Given the description of an element on the screen output the (x, y) to click on. 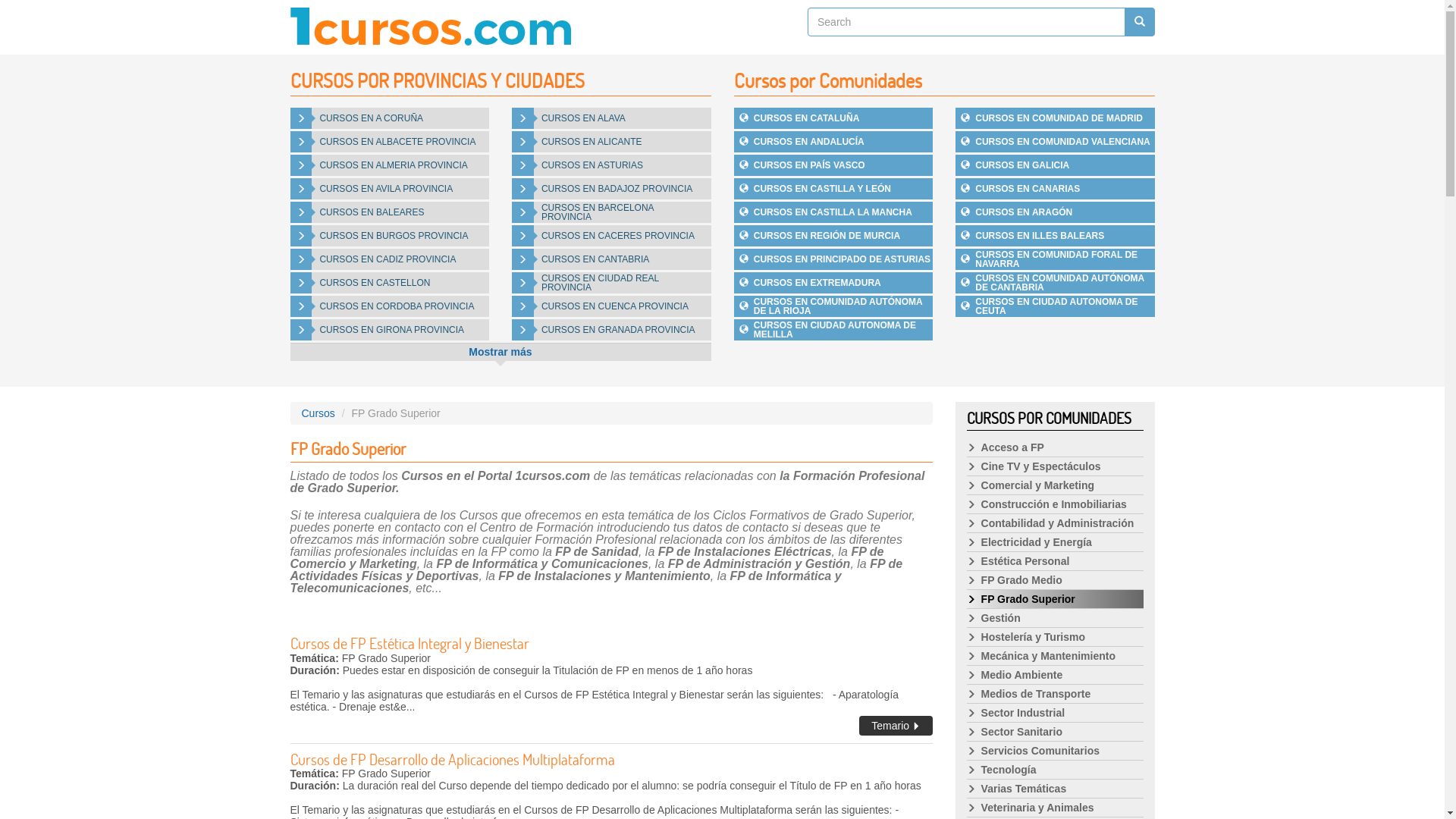
Sector Sanitario Element type: text (1054, 731)
CURSOS EN ALAVA Element type: text (611, 117)
CURSOS EN COMUNIDAD DE MADRID Element type: text (1054, 117)
CURSOS EN GALICIA Element type: text (1054, 164)
Medios de Transporte Element type: text (1054, 693)
Cursos Element type: text (318, 413)
Comercial y Marketing Element type: text (1054, 485)
FP Grado Medio Element type: text (1054, 580)
CURSOS EN CACERES PROVINCIA Element type: text (611, 235)
CURSOS EN ASTURIAS Element type: text (611, 164)
CURSOS EN ALICANTE Element type: text (611, 141)
Servicios Comunitarios Element type: text (1054, 750)
CURSOS EN COMUNIDAD VALENCIANA Element type: text (1054, 141)
CURSOS EN ALBACETE PROVINCIA Element type: text (389, 141)
CURSOS EN CORDOBA PROVINCIA Element type: text (389, 305)
CURSOS EN GIRONA PROVINCIA Element type: text (389, 329)
CURSOS EN COMUNIDAD FORAL DE NAVARRA Element type: text (1054, 258)
CURSOS EN CADIZ PROVINCIA Element type: text (389, 258)
Acceso a FP Element type: text (1054, 447)
Medio Ambiente Element type: text (1054, 674)
CURSOS EN CUENCA PROVINCIA Element type: text (611, 305)
CURSOS EN CASTILLA LA MANCHA Element type: text (833, 211)
CURSOS EN BADAJOZ PROVINCIA Element type: text (611, 188)
CURSOS EN BALEARES Element type: text (389, 211)
CURSOS EN ILLES BALEARS Element type: text (1054, 235)
CURSOS EN BURGOS PROVINCIA Element type: text (389, 235)
FP Grado Superior Element type: text (1054, 598)
CURSOS EN PRINCIPADO DE ASTURIAS Element type: text (833, 258)
CURSOS EN CIUDAD REAL PROVINCIA Element type: text (611, 282)
Veterinaria y Animales Element type: text (1054, 807)
CURSOS EN CIUDAD AUTONOMA DE MELILLA Element type: text (833, 329)
CURSOS EN CANARIAS Element type: text (1054, 188)
Sector Industrial Element type: text (1054, 712)
Cursos de FP Desarrollo de Aplicaciones Multiplataforma Element type: text (451, 758)
1cursos.com Element type: hover (429, 26)
CURSOS EN GRANADA PROVINCIA Element type: text (611, 329)
CURSOS EN EXTREMADURA Element type: text (833, 282)
CURSOS EN CIUDAD AUTONOMA DE CEUTA Element type: text (1054, 305)
CURSOS EN CANTABRIA Element type: text (611, 258)
Temario Element type: text (895, 725)
CURSOS EN BARCELONA PROVINCIA Element type: text (611, 211)
CURSOS EN AVILA PROVINCIA Element type: text (389, 188)
CURSOS EN CASTELLON Element type: text (389, 282)
CURSOS EN ALMERIA PROVINCIA Element type: text (389, 164)
